Given the description of an element on the screen output the (x, y) to click on. 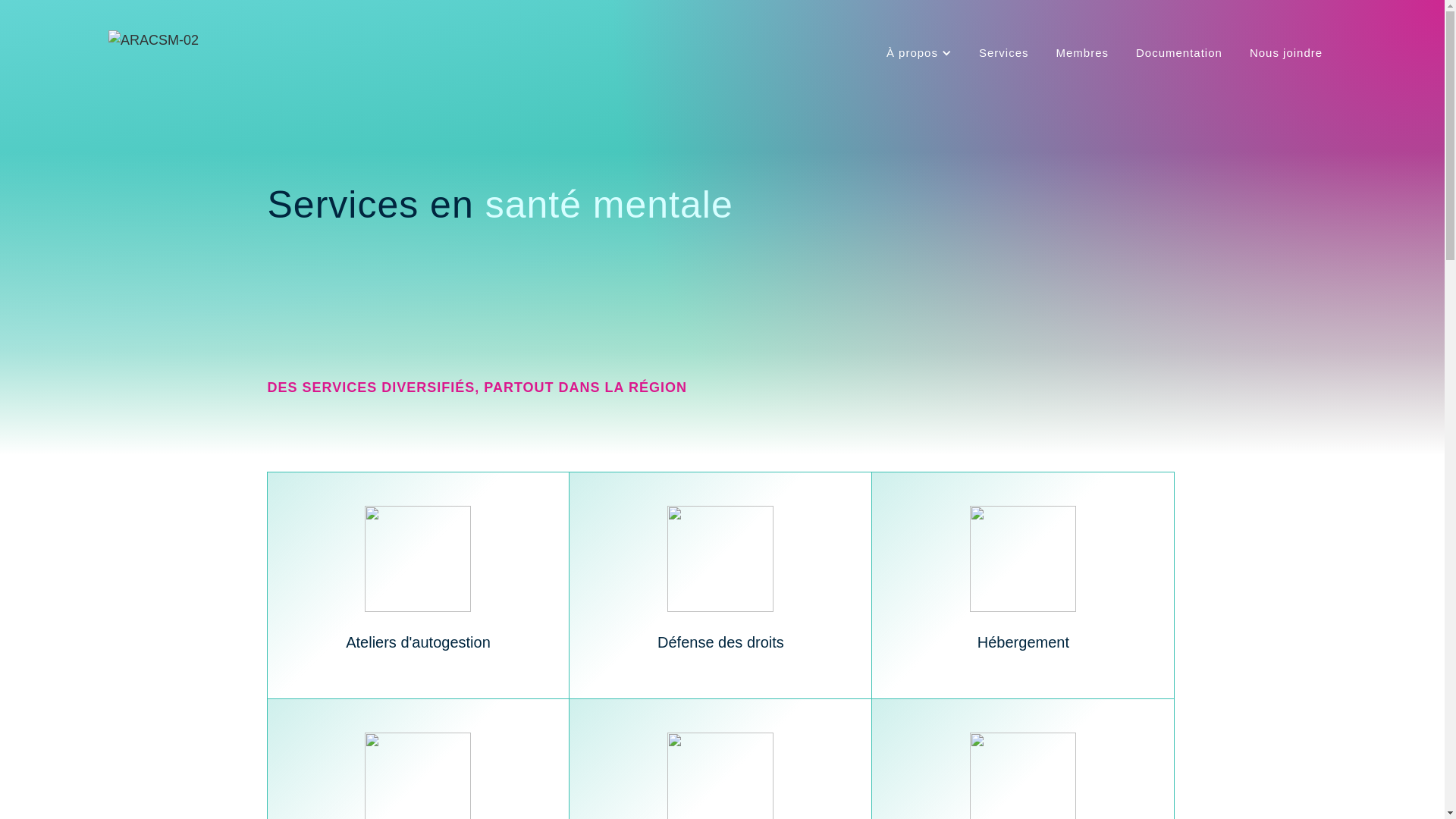
Services Element type: text (1003, 53)
Ateliers d'autogestion Element type: text (418, 585)
Documentation Element type: text (1179, 53)
Membres Element type: text (1081, 53)
Nous joindre Element type: text (1286, 53)
